Given the description of an element on the screen output the (x, y) to click on. 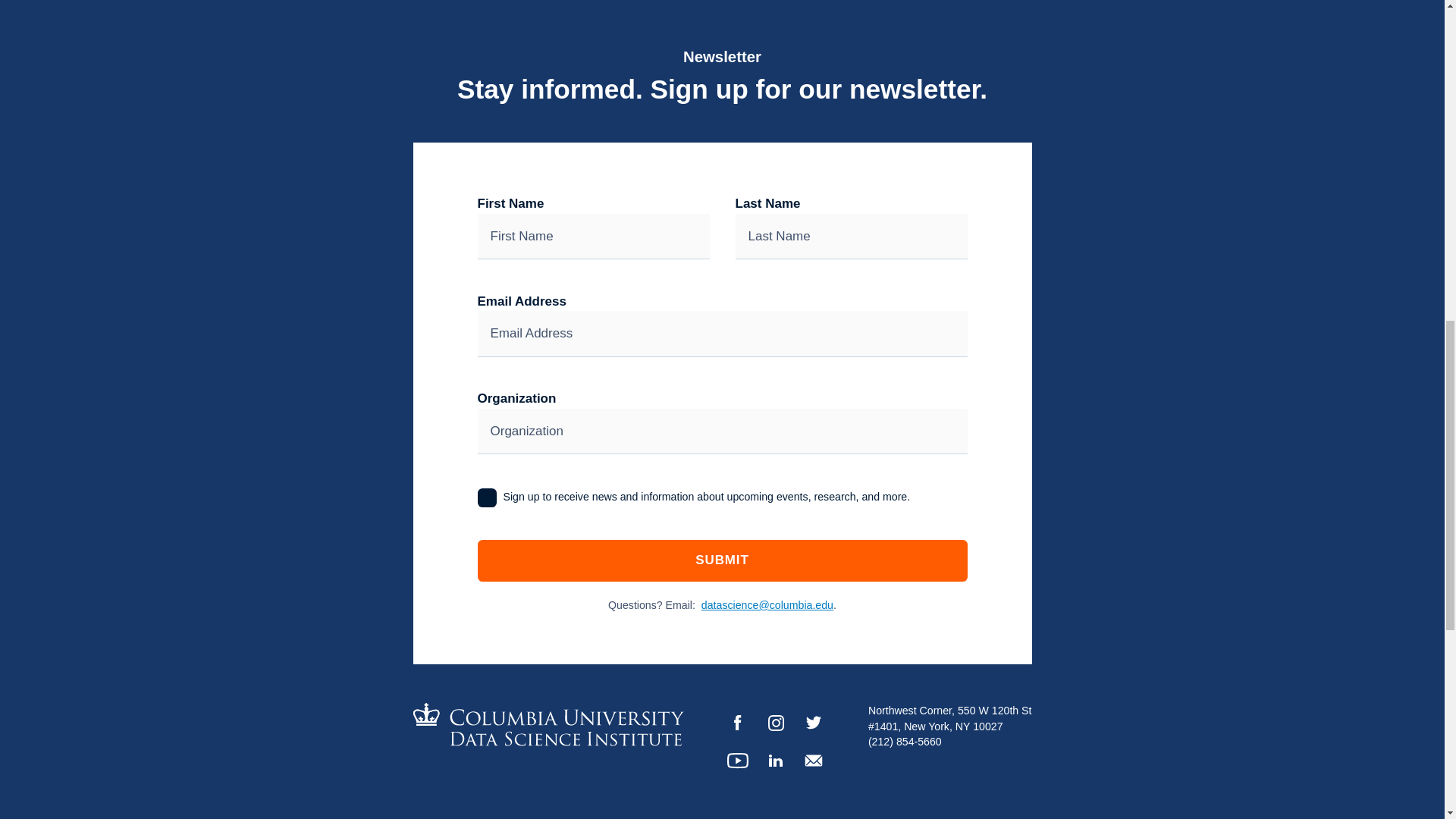
1 (487, 497)
